Given the description of an element on the screen output the (x, y) to click on. 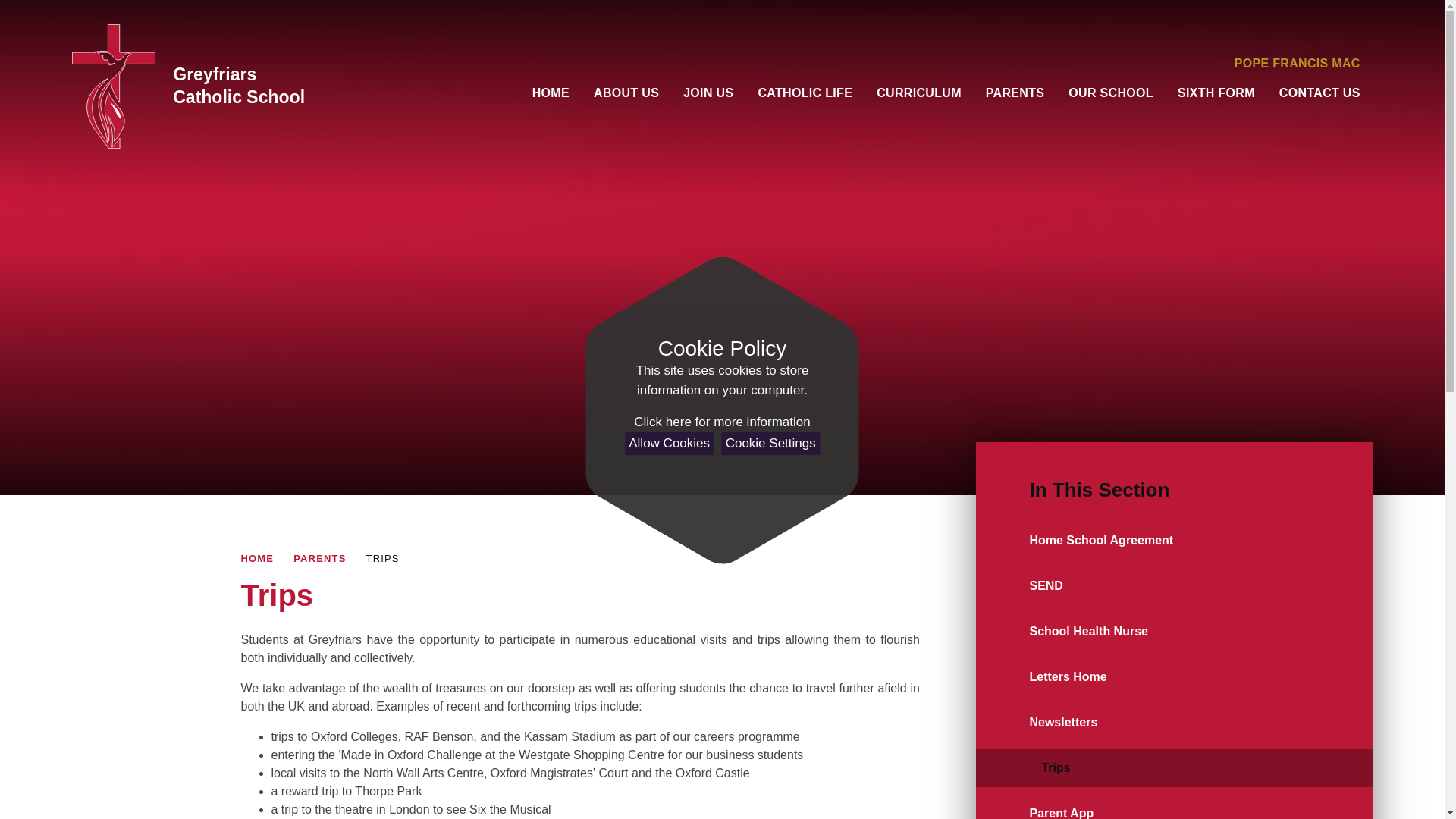
ABOUT US (625, 93)
Visit Pope Francis Mac (1296, 63)
JOIN US (708, 93)
HOME (549, 93)
POPE FRANCIS MAC (1296, 63)
